Given the description of an element on the screen output the (x, y) to click on. 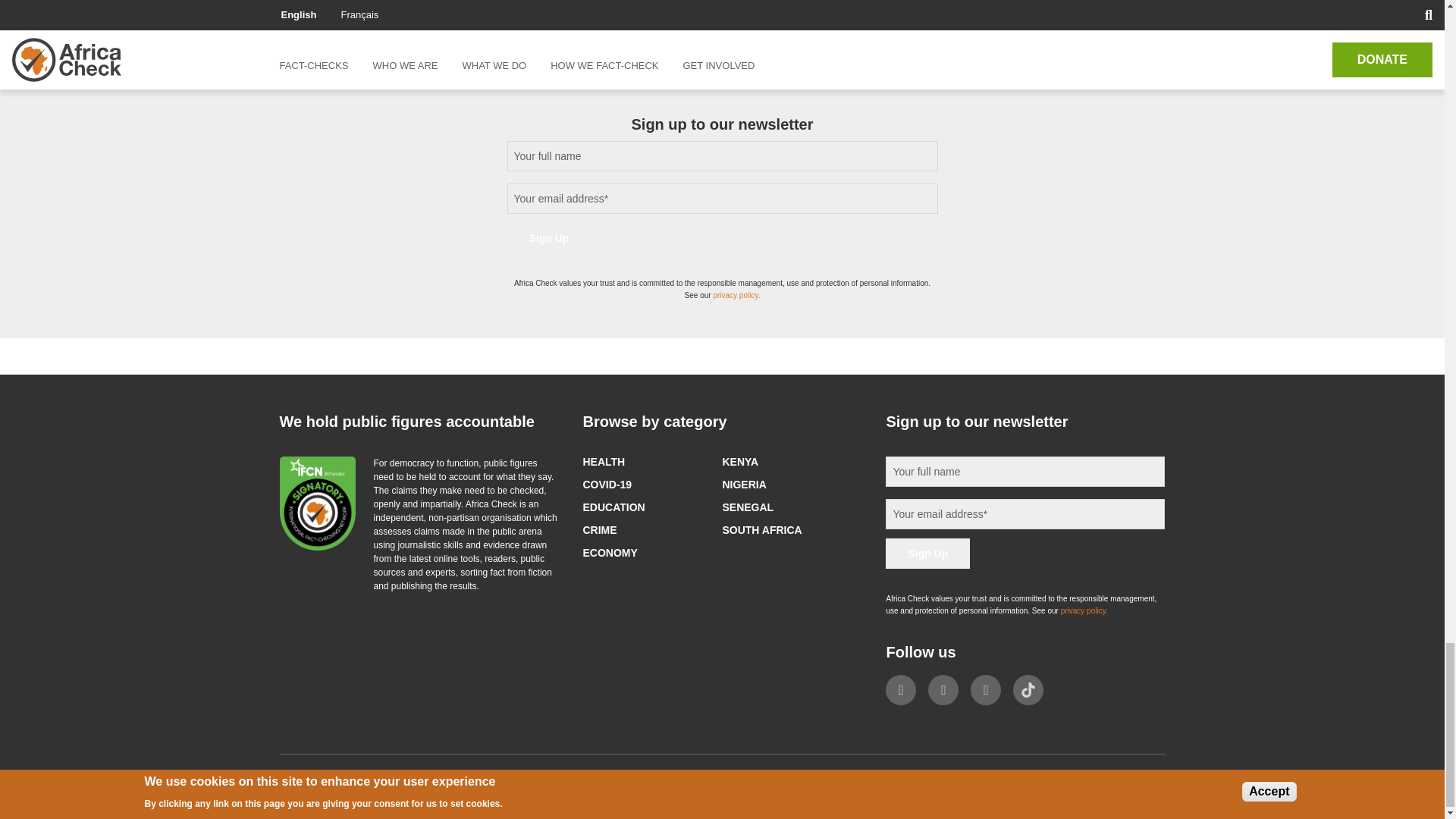
Sign Up (927, 553)
Save (319, 2)
Sign Up (548, 237)
